Given the description of an element on the screen output the (x, y) to click on. 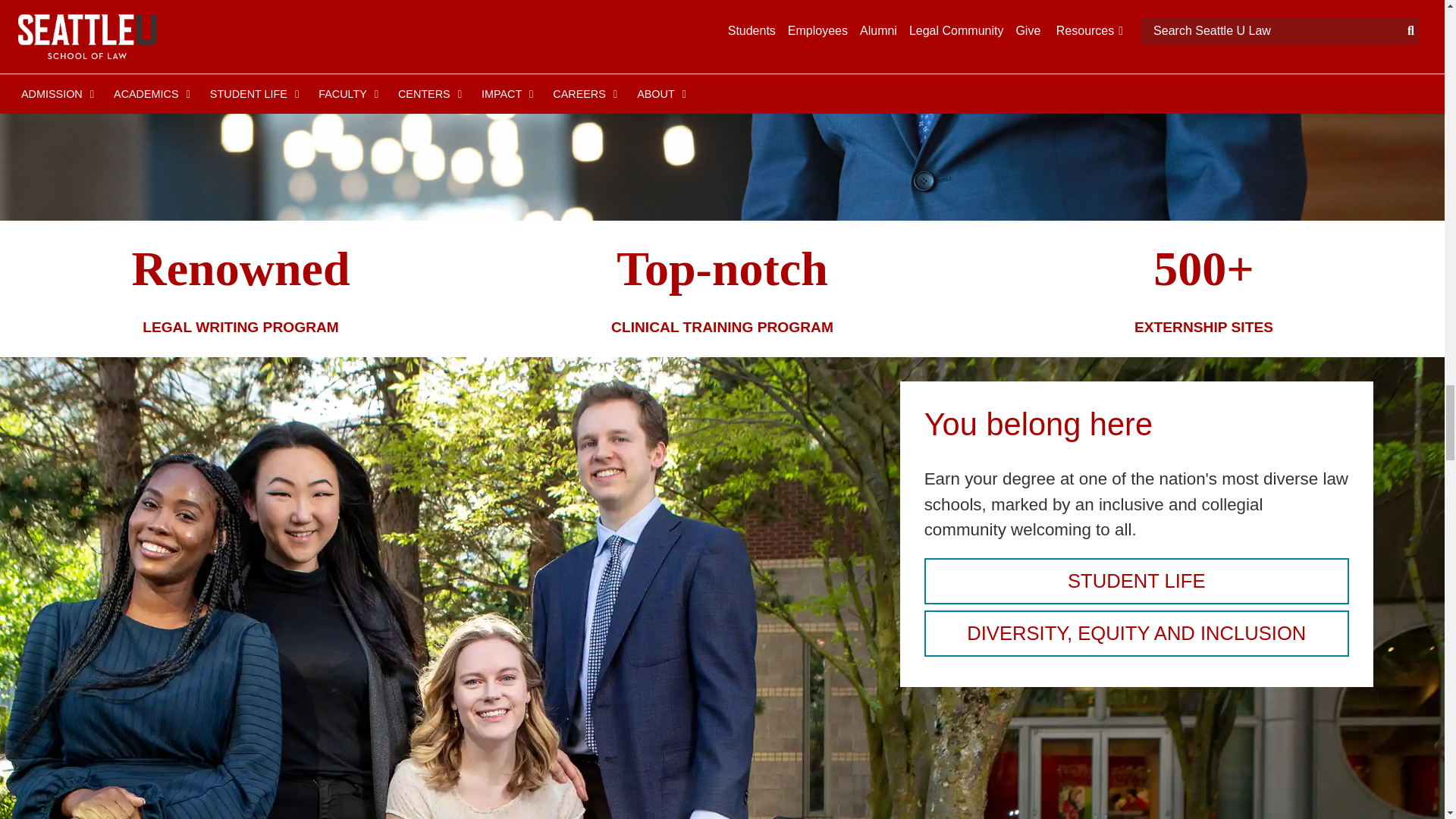
Student Life (1137, 580)
